Given the description of an element on the screen output the (x, y) to click on. 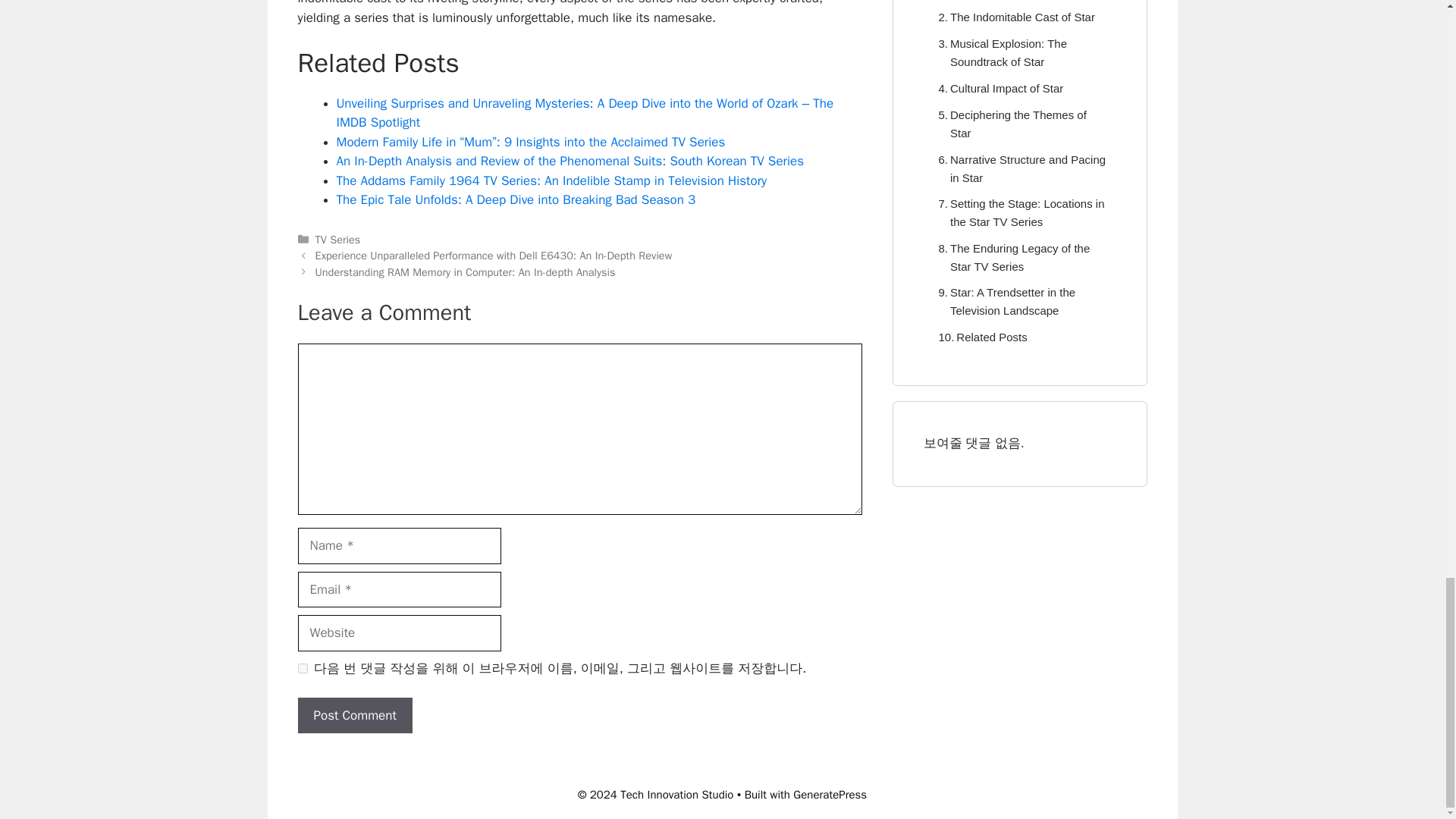
yes (302, 668)
TV Series (338, 239)
Musical Explosion: The Soundtrack of Star (1019, 53)
Cultural Impact of Star (997, 88)
Post Comment (354, 715)
Post Comment (354, 715)
Understanding RAM Memory in Computer: An In-depth Analysis (465, 272)
